Given the description of an element on the screen output the (x, y) to click on. 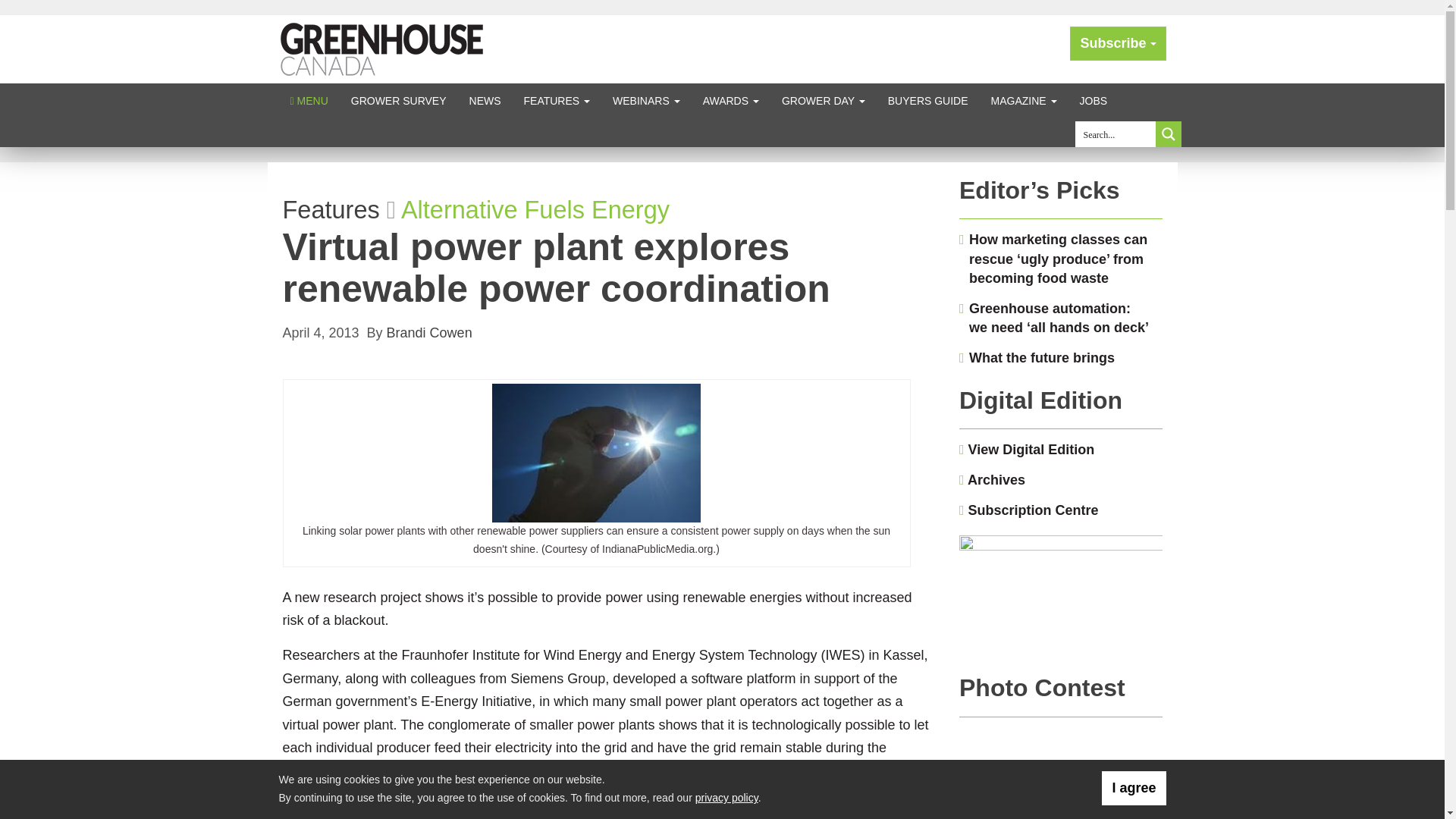
JOBS (1093, 100)
MAGAZINE (1023, 100)
Subscribe (1118, 43)
NEWS (485, 100)
Greenhouse Canada (381, 48)
BUYERS GUIDE (927, 100)
AWARDS (730, 100)
Click to show site navigation (309, 100)
MENU (309, 100)
GROWER DAY (823, 100)
